Given the description of an element on the screen output the (x, y) to click on. 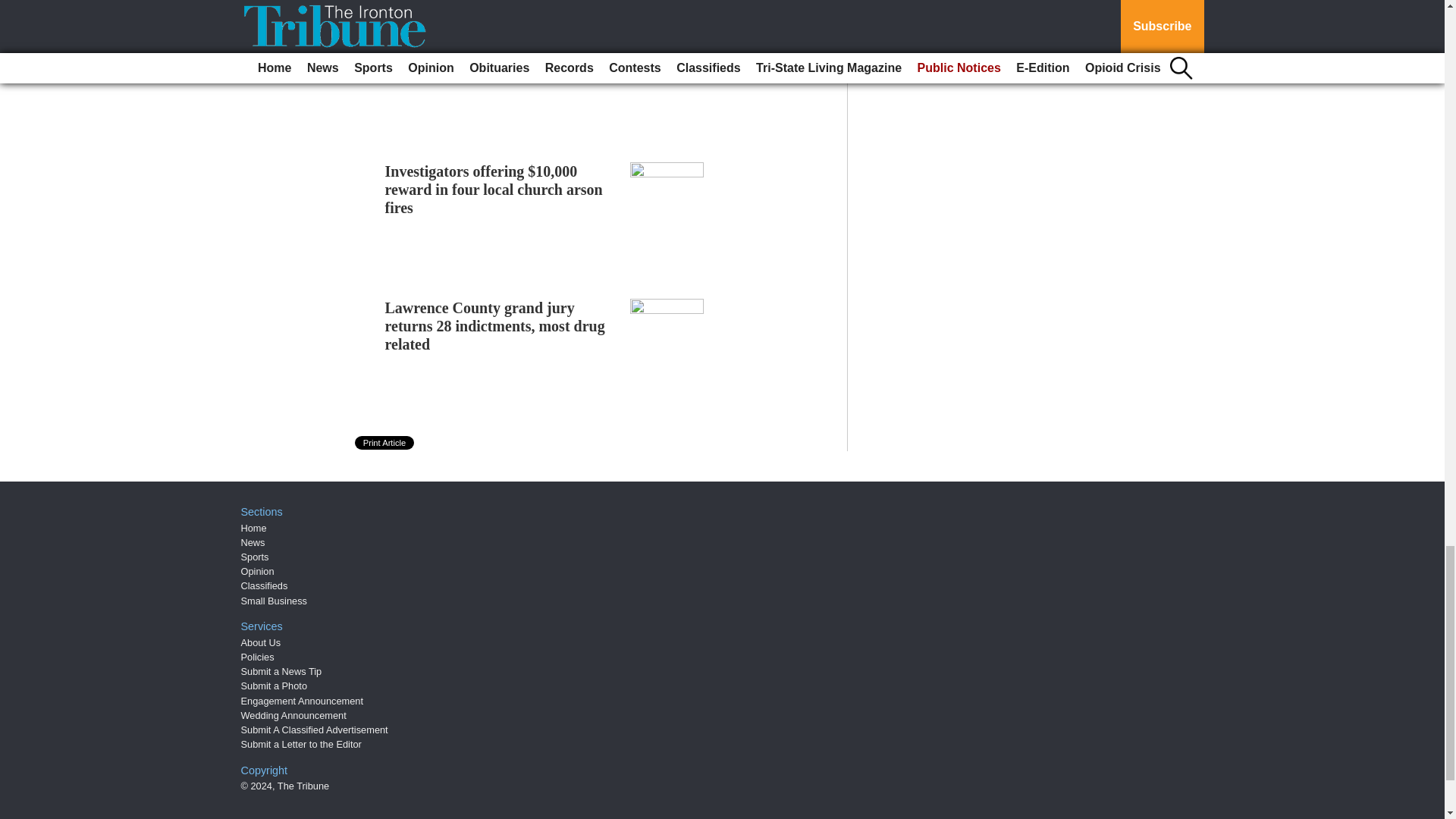
Proud of our Olympian McKenzie Long (495, 43)
Print Article (384, 442)
News (252, 542)
Sports (255, 556)
Home (253, 527)
Proud of our Olympian McKenzie Long (495, 43)
